Given the description of an element on the screen output the (x, y) to click on. 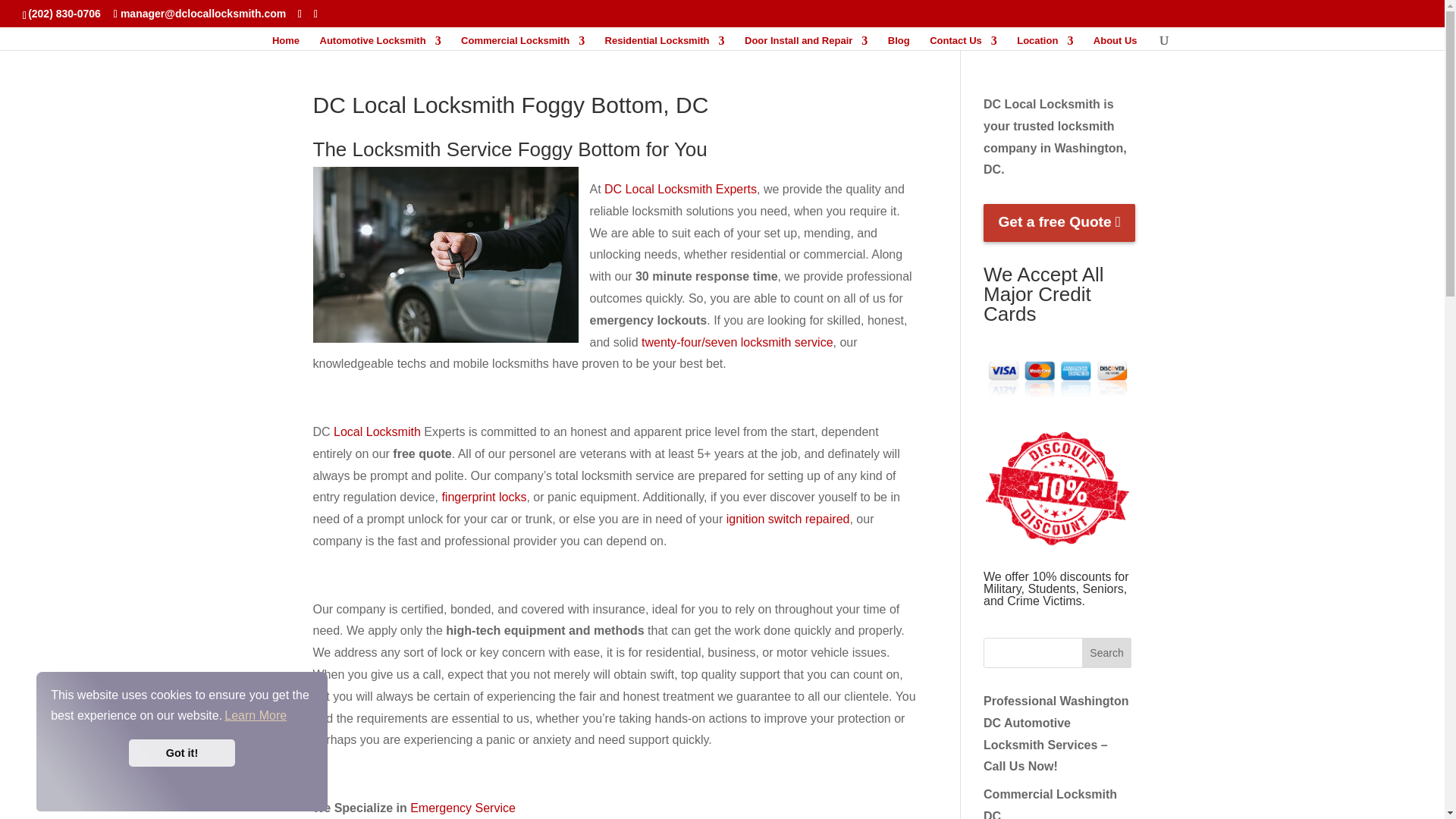
Search (1106, 653)
Commercial Locksmith (523, 42)
Home (285, 42)
Automotive Locksmith (380, 42)
Residential Locksmith (665, 42)
